Given the description of an element on the screen output the (x, y) to click on. 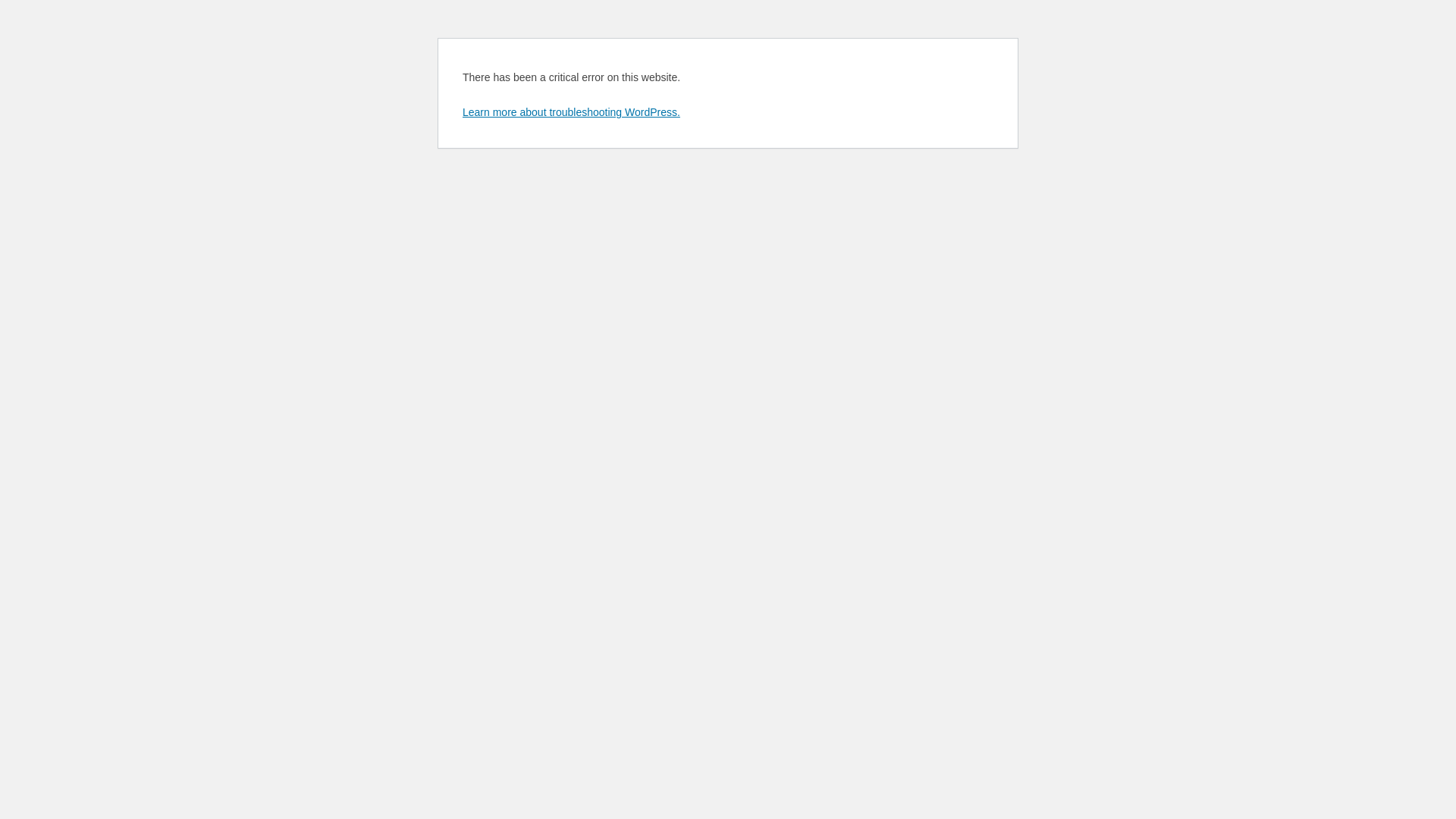
Learn more about troubleshooting WordPress. Element type: text (571, 112)
